Given the description of an element on the screen output the (x, y) to click on. 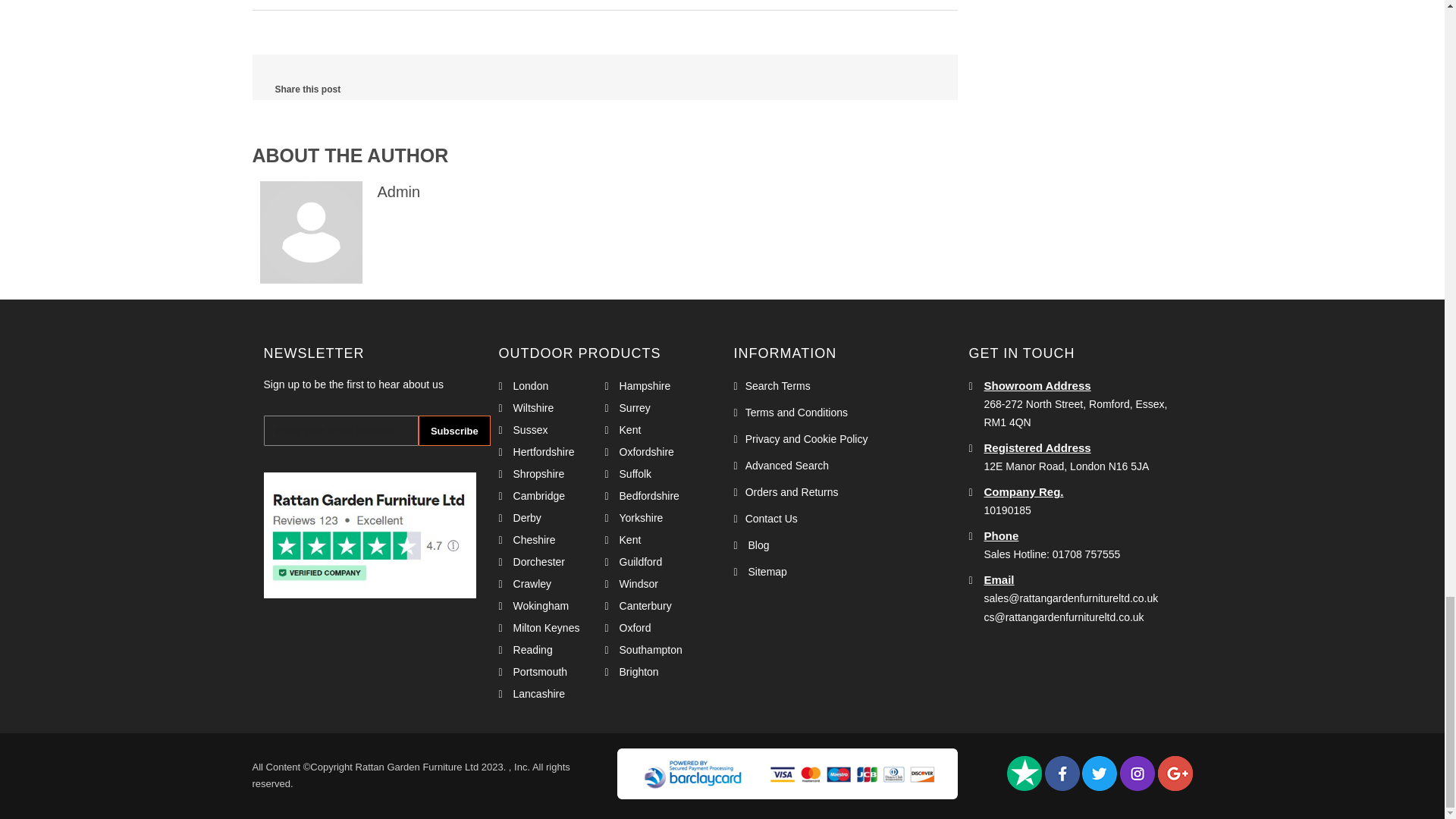
Subscribe (454, 430)
Trustpilot (1024, 773)
Facebook (1062, 773)
Google (1174, 773)
Twitter (1098, 773)
Instagram (1136, 773)
Barclay Payment Gatway (787, 773)
